Given the description of an element on the screen output the (x, y) to click on. 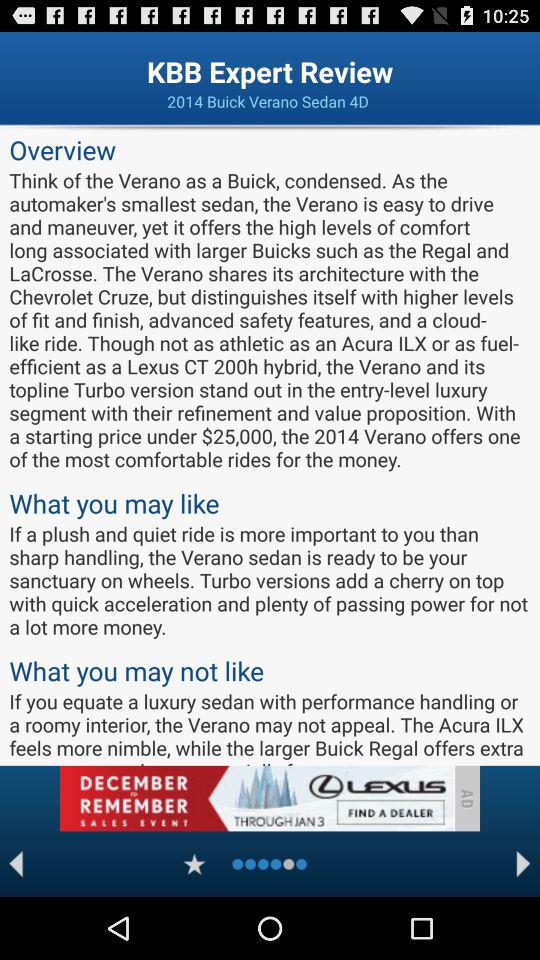
go back (16, 864)
